Given the description of an element on the screen output the (x, y) to click on. 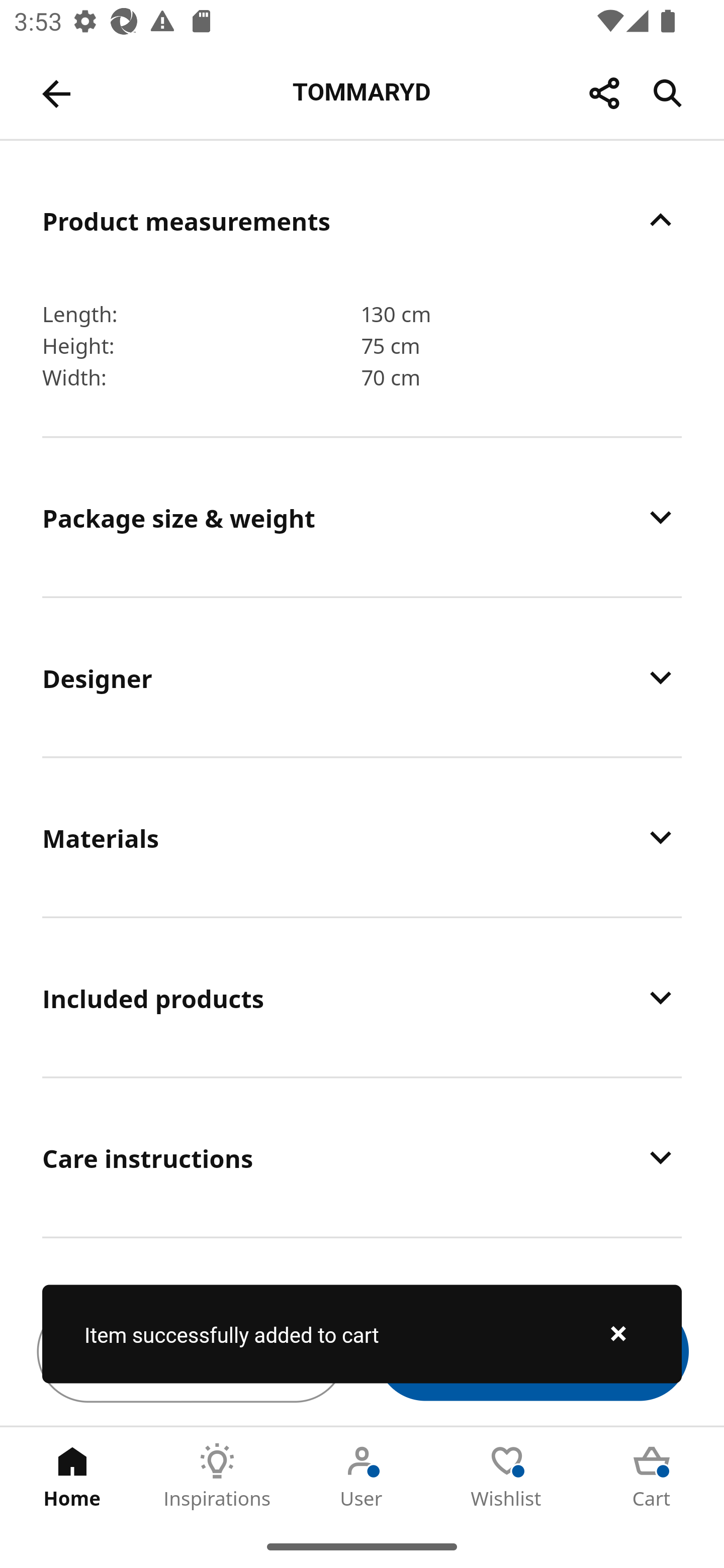
Product measurements (361, 219)
Package size & weight (361, 516)
Designer (361, 677)
Materials (361, 837)
Included products (361, 997)
Care instructions (361, 1157)
Item successfully added to cart (361, 1333)
Home
Tab 1 of 5 (72, 1476)
Inspirations
Tab 2 of 5 (216, 1476)
User
Tab 3 of 5 (361, 1476)
Wishlist
Tab 4 of 5 (506, 1476)
Cart
Tab 5 of 5 (651, 1476)
